Given the description of an element on the screen output the (x, y) to click on. 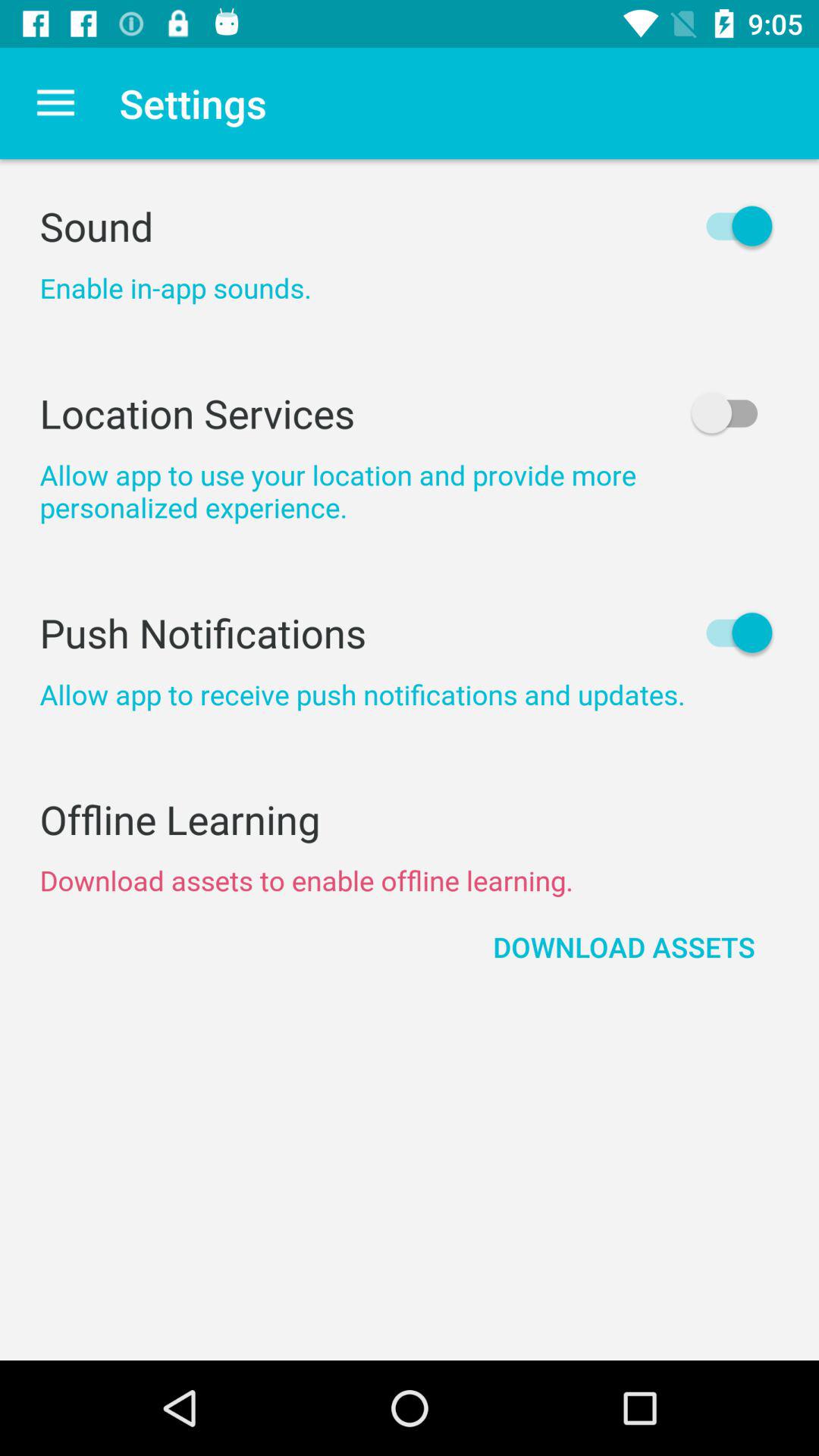
launch the icon above the enable in app item (409, 226)
